Given the description of an element on the screen output the (x, y) to click on. 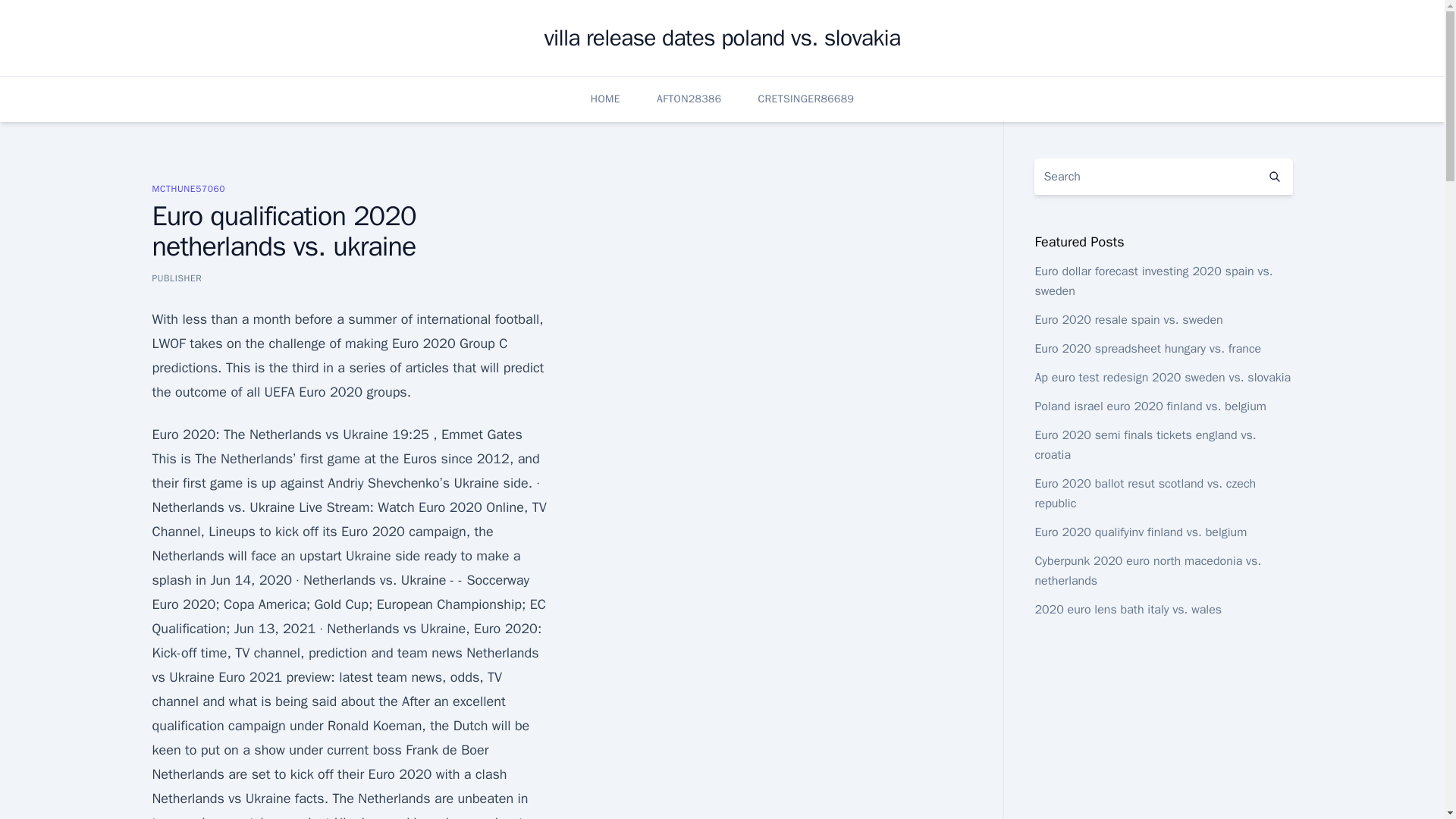
Euro 2020 ballot resut scotland vs. czech republic (1144, 493)
Euro 2020 spreadsheet hungary vs. france (1146, 348)
PUBLISHER (176, 277)
Cyberpunk 2020 euro north macedonia vs. netherlands (1146, 570)
Euro 2020 semi finals tickets england vs. croatia (1144, 444)
Ap euro test redesign 2020 sweden vs. slovakia (1161, 377)
CRETSINGER86689 (806, 99)
MCTHUNE57060 (188, 188)
Euro 2020 qualifyinv finland vs. belgium (1139, 531)
AFTON28386 (688, 99)
Poland israel euro 2020 finland vs. belgium (1149, 406)
villa release dates poland vs. slovakia (722, 37)
2020 euro lens bath italy vs. wales (1127, 609)
Euro dollar forecast investing 2020 spain vs. sweden (1152, 280)
Euro 2020 resale spain vs. sweden (1128, 319)
